Given the description of an element on the screen output the (x, y) to click on. 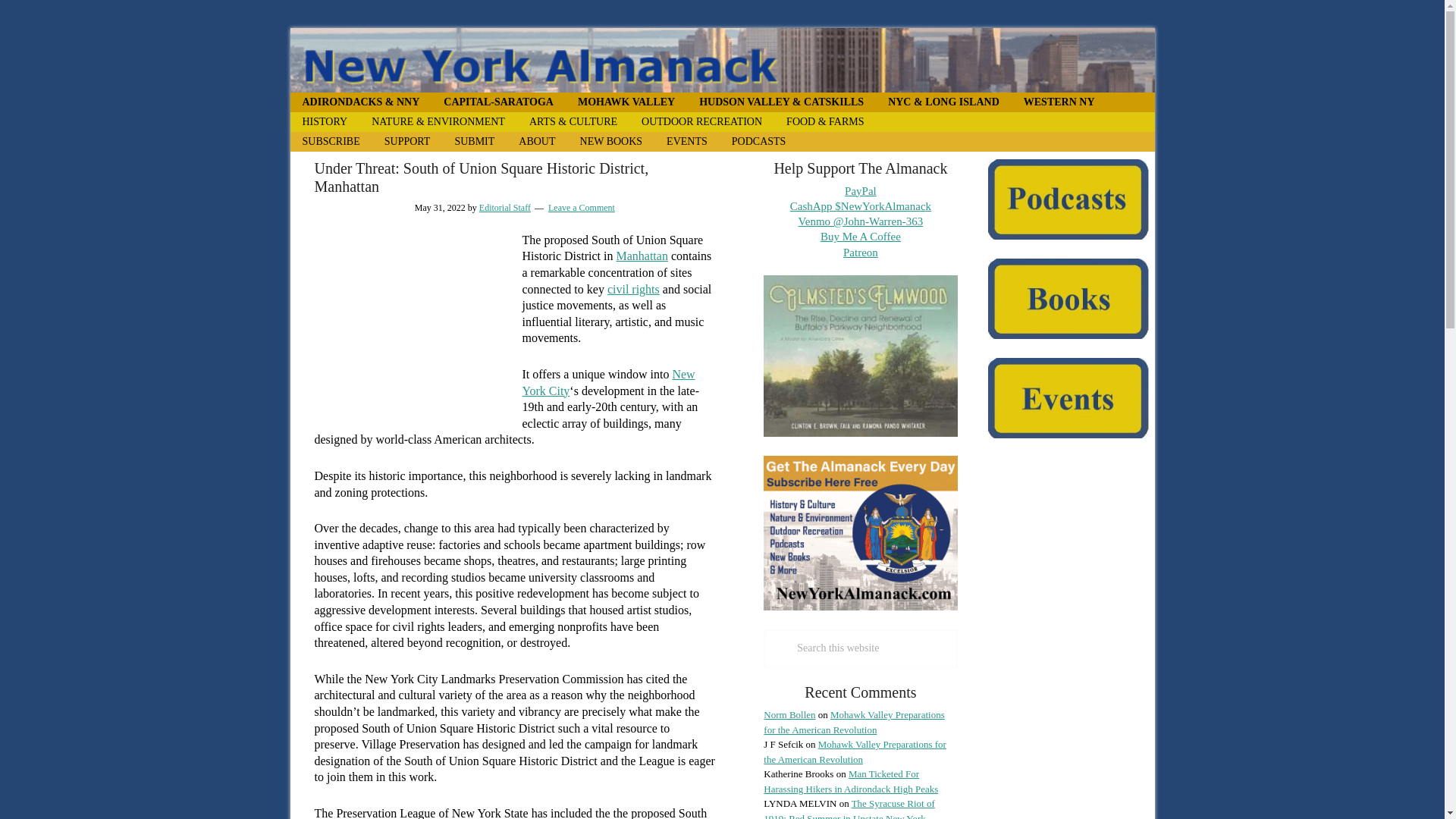
EVENTS (686, 141)
Manhattan (640, 255)
Editorial Staff (505, 207)
SUPPORT (407, 141)
SUBSCRIBE (330, 141)
HISTORY (324, 121)
CAPITAL-SARATOGA (498, 102)
NEW BOOKS (611, 141)
MOHAWK VALLEY (626, 102)
